Given the description of an element on the screen output the (x, y) to click on. 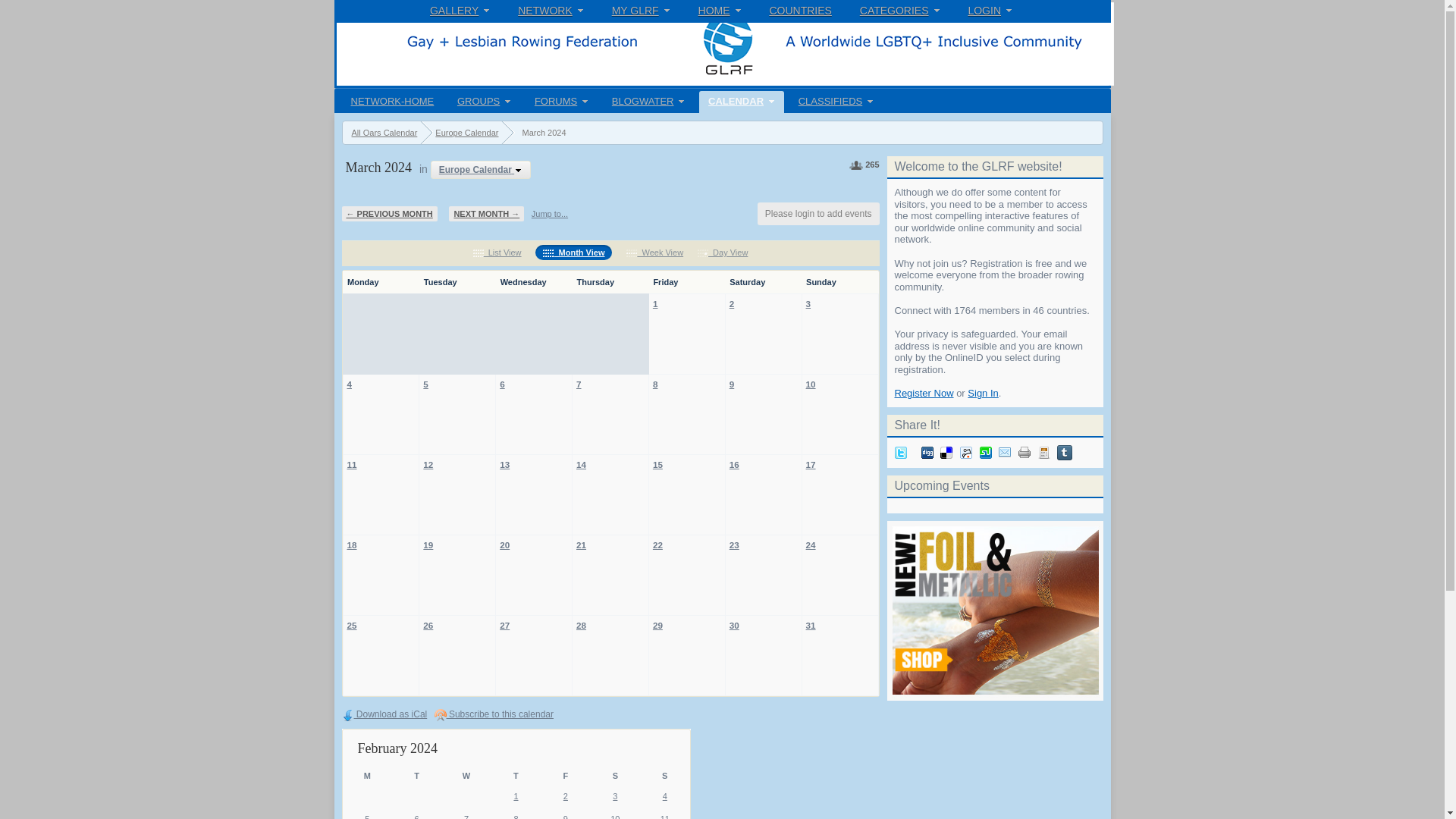
BLOGWATER (648, 101)
GROUPS (483, 101)
FORUMS (560, 101)
CALENDAR (741, 101)
CLASSIFIEDS (836, 101)
NETWORK-HOME (391, 101)
